Given the description of an element on the screen output the (x, y) to click on. 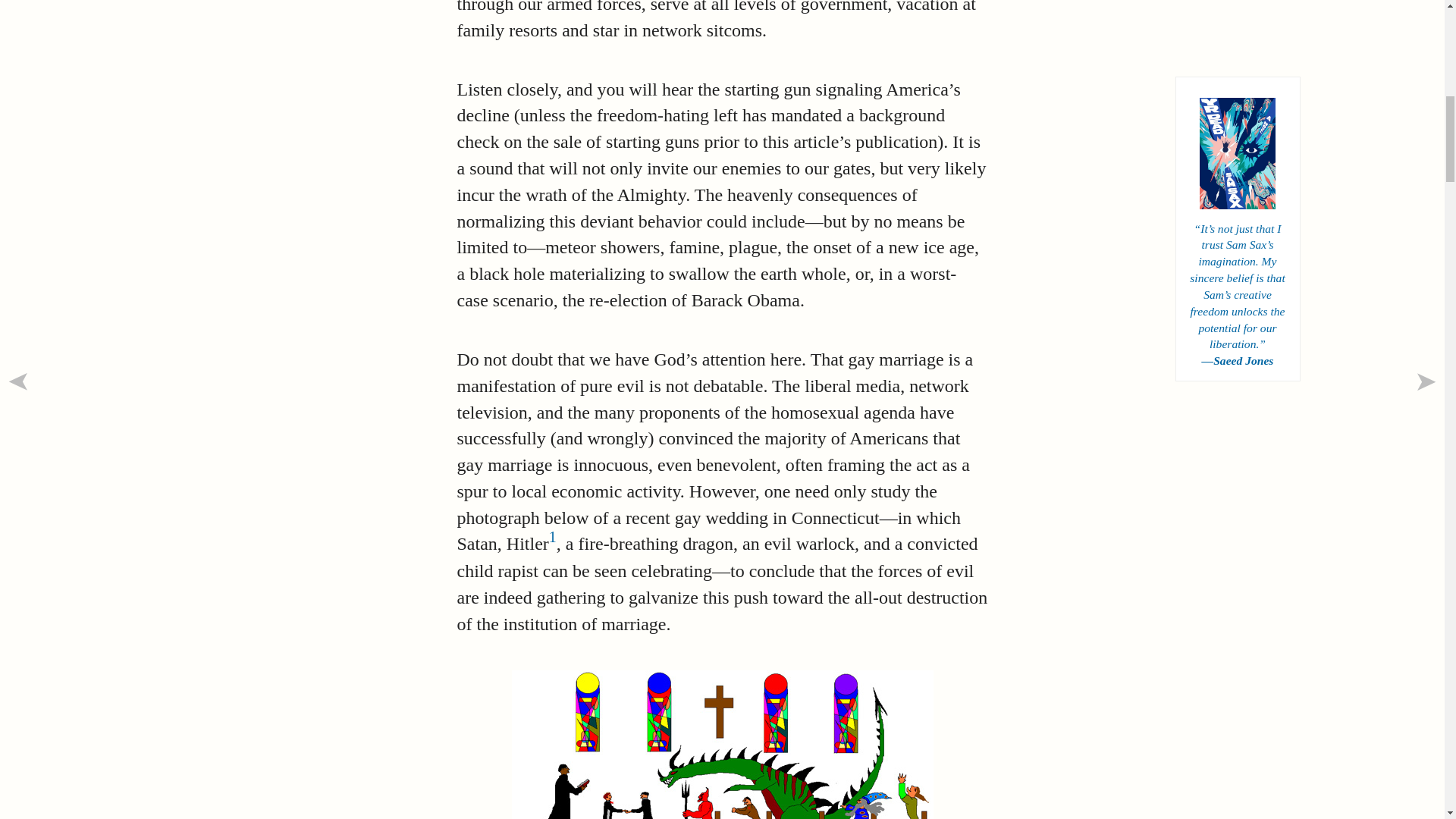
1 (552, 536)
